Given the description of an element on the screen output the (x, y) to click on. 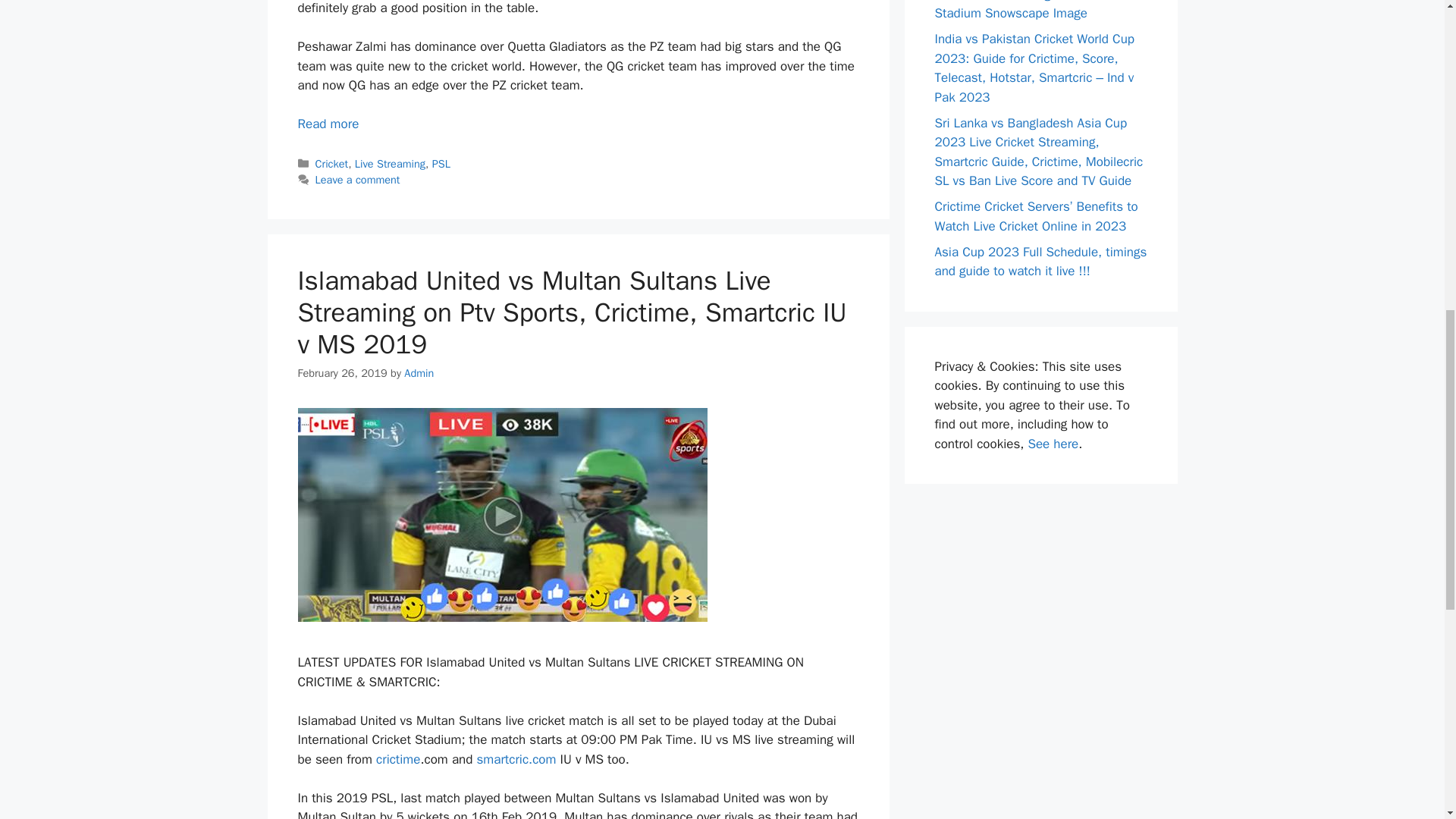
smartcric.com (516, 759)
PSL (440, 163)
Live Streaming (390, 163)
Admin (418, 373)
crictime (397, 759)
Leave a comment (357, 179)
Read more (327, 123)
Cricket (332, 163)
View all posts by Admin (418, 373)
